Given the description of an element on the screen output the (x, y) to click on. 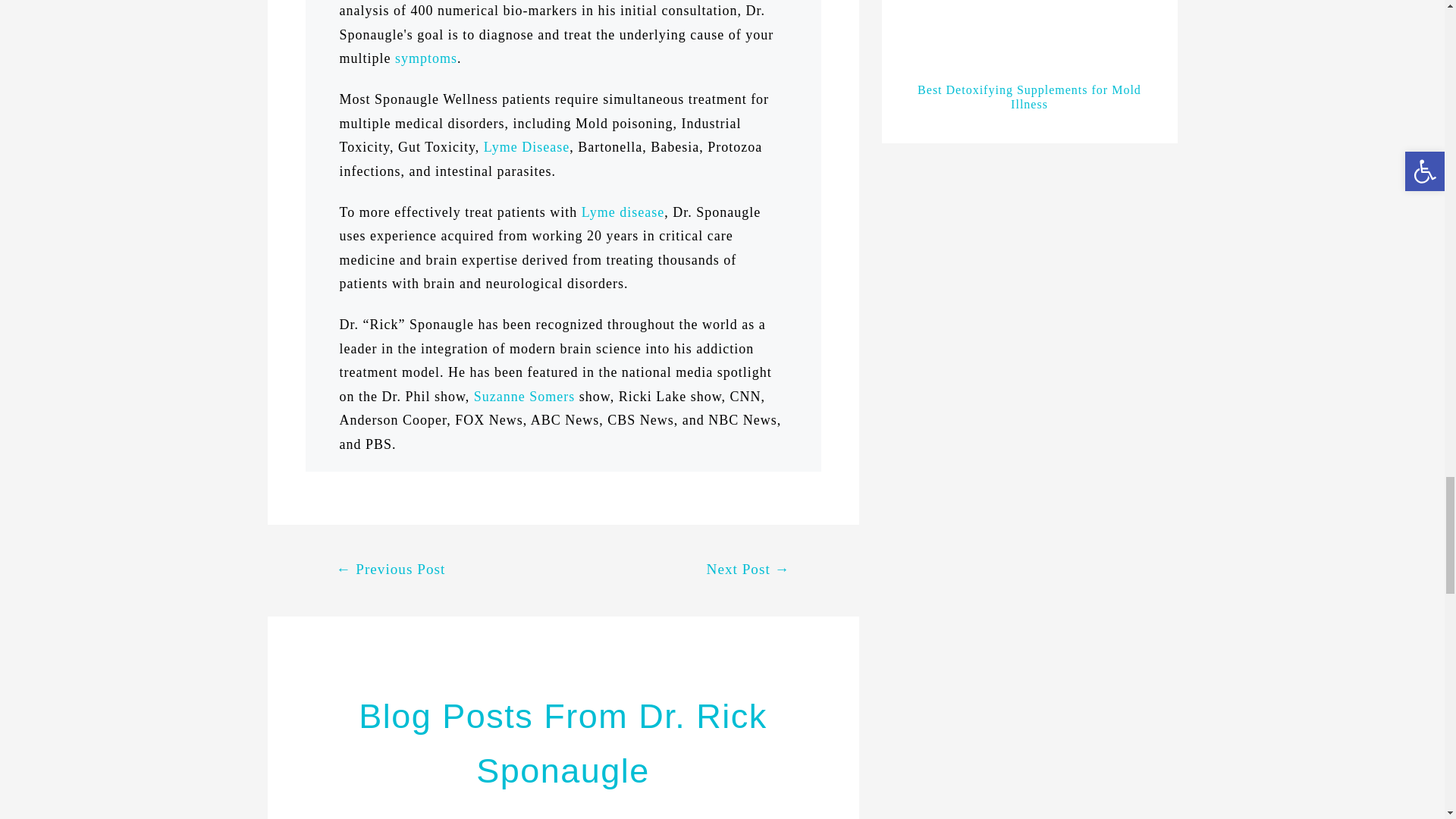
Lyme Disease Symptoms (425, 58)
Lyme Disease Treatment (526, 146)
Lyme disease (621, 212)
Suzanne Somers Recommends Sponaugle Wellness (524, 396)
